Given the description of an element on the screen output the (x, y) to click on. 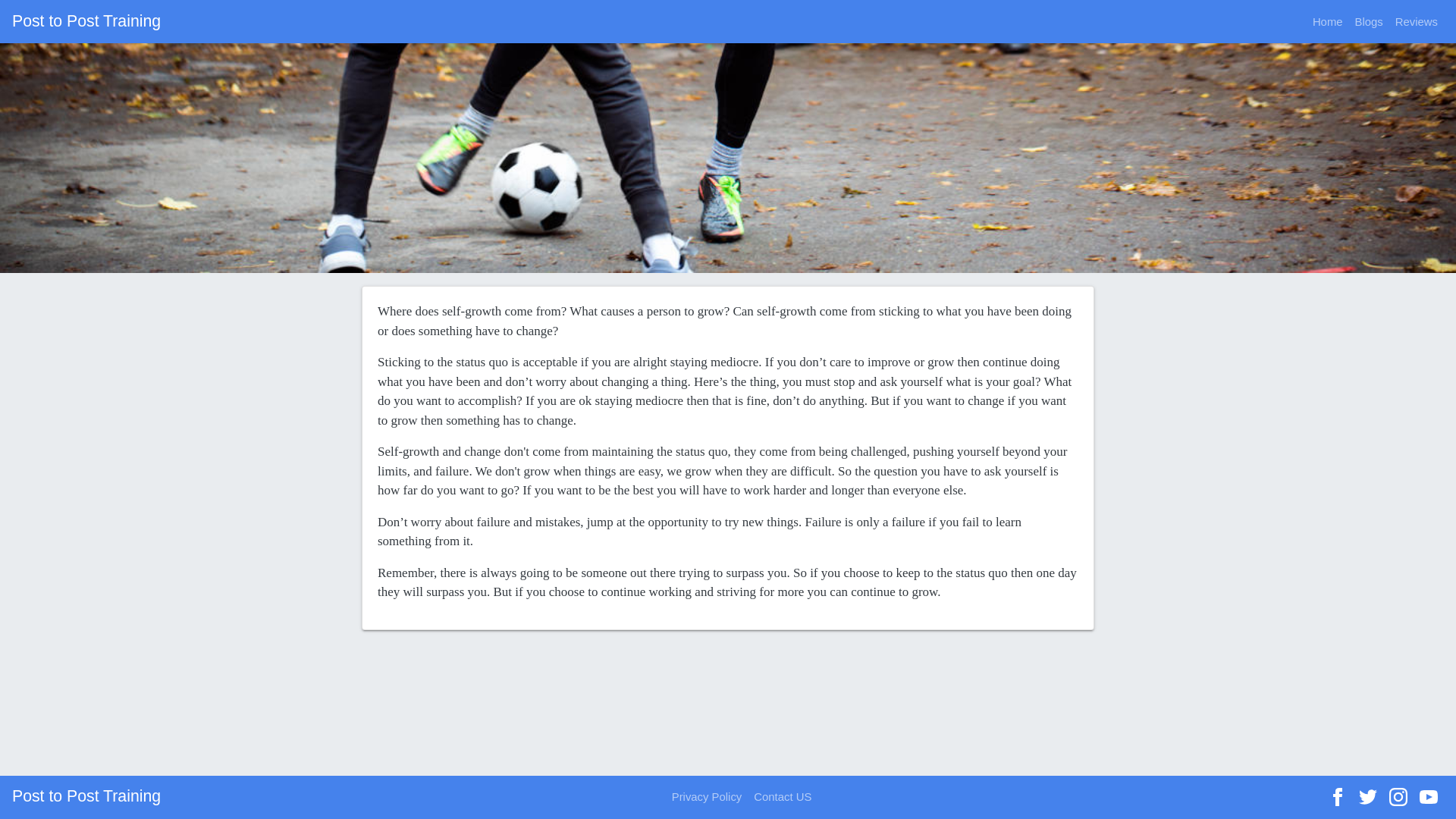
Reviews (1416, 21)
Blogs (1369, 21)
Post to Post Training (85, 797)
Contact US (782, 796)
Home (1327, 21)
Privacy Policy (706, 796)
Post to Post Training (85, 20)
